Given the description of an element on the screen output the (x, y) to click on. 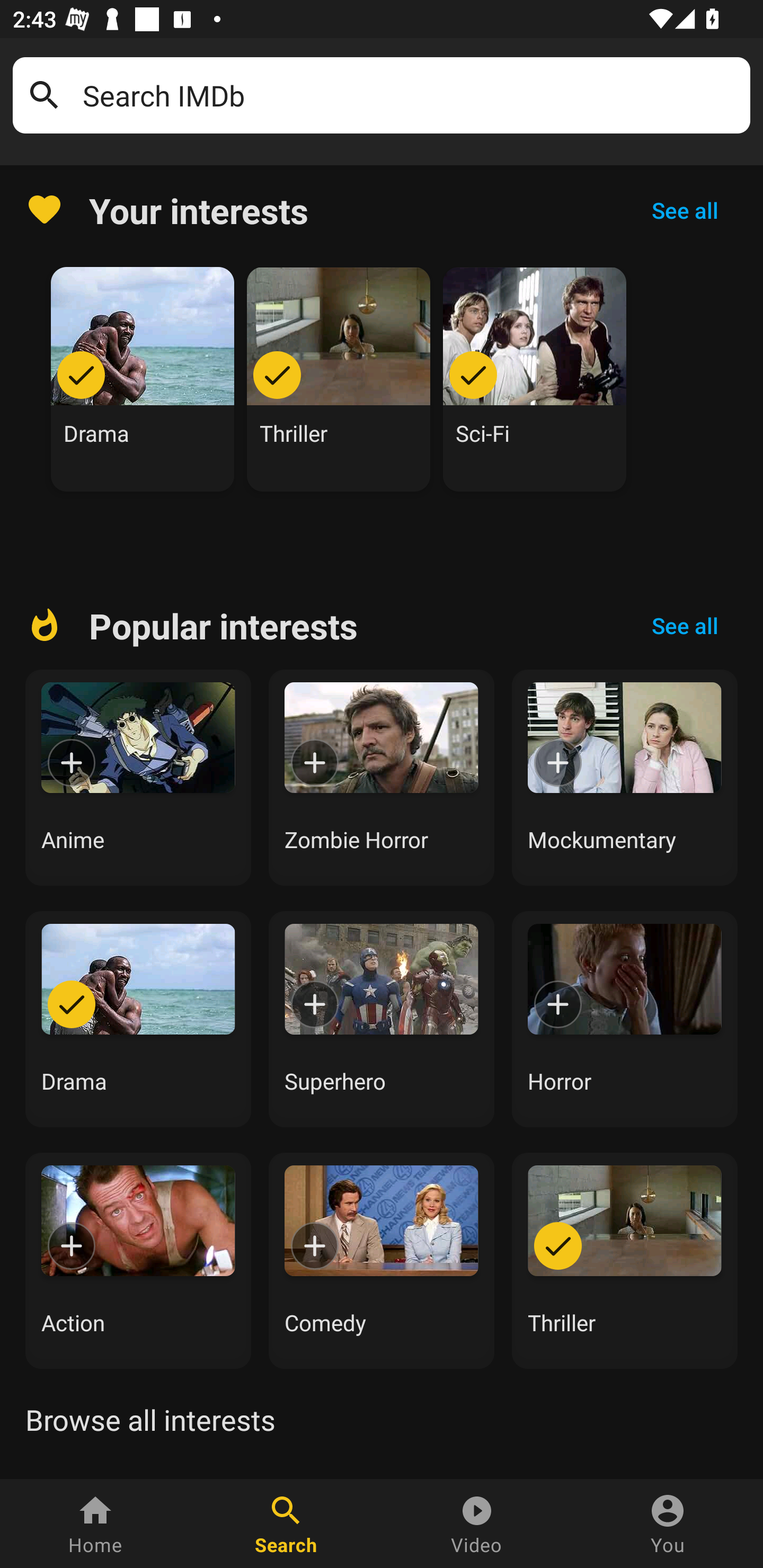
Search IMDb (410, 95)
See all (684, 209)
Drama (142, 379)
Thriller (338, 379)
Sci-Fi (534, 379)
See all (684, 625)
Anime (138, 777)
Zombie Horror (381, 777)
Mockumentary (624, 777)
Drama (138, 1018)
Superhero (381, 1018)
Horror (624, 1018)
Action (138, 1260)
Comedy (381, 1260)
Thriller (624, 1260)
Browse all interests (150, 1419)
Home (95, 1523)
Video (476, 1523)
You (667, 1523)
